Given the description of an element on the screen output the (x, y) to click on. 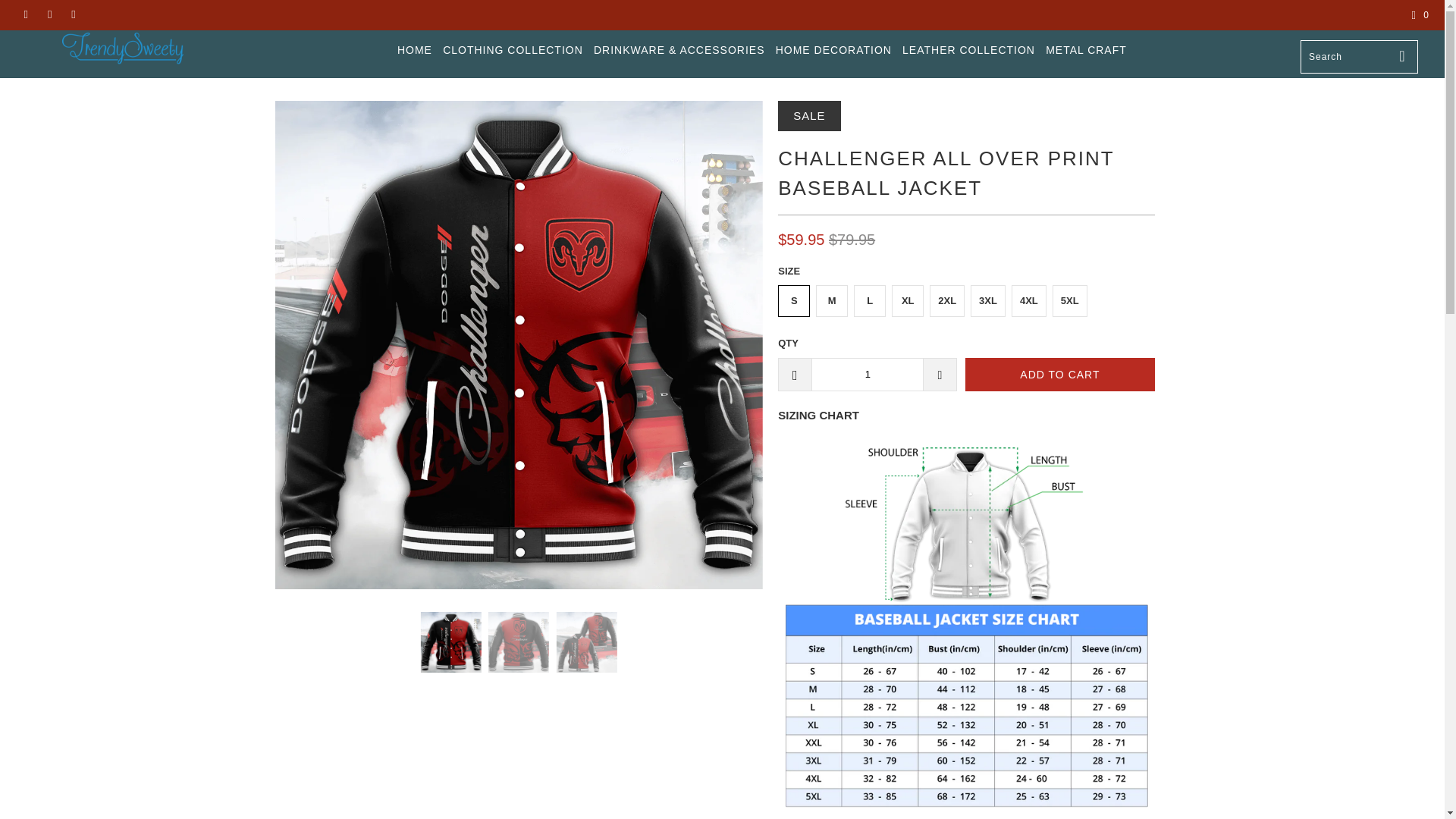
HOME (414, 49)
TrendySweety (122, 53)
HOME DECORATION (833, 49)
ADD TO CART (1059, 374)
TrendySweety on Instagram (48, 14)
METAL CRAFT (1085, 49)
1 (866, 374)
Email TrendySweety (73, 14)
TrendySweety on Facebook (25, 14)
CLOTHING COLLECTION (512, 49)
LEATHER COLLECTION (968, 49)
